Given the description of an element on the screen output the (x, y) to click on. 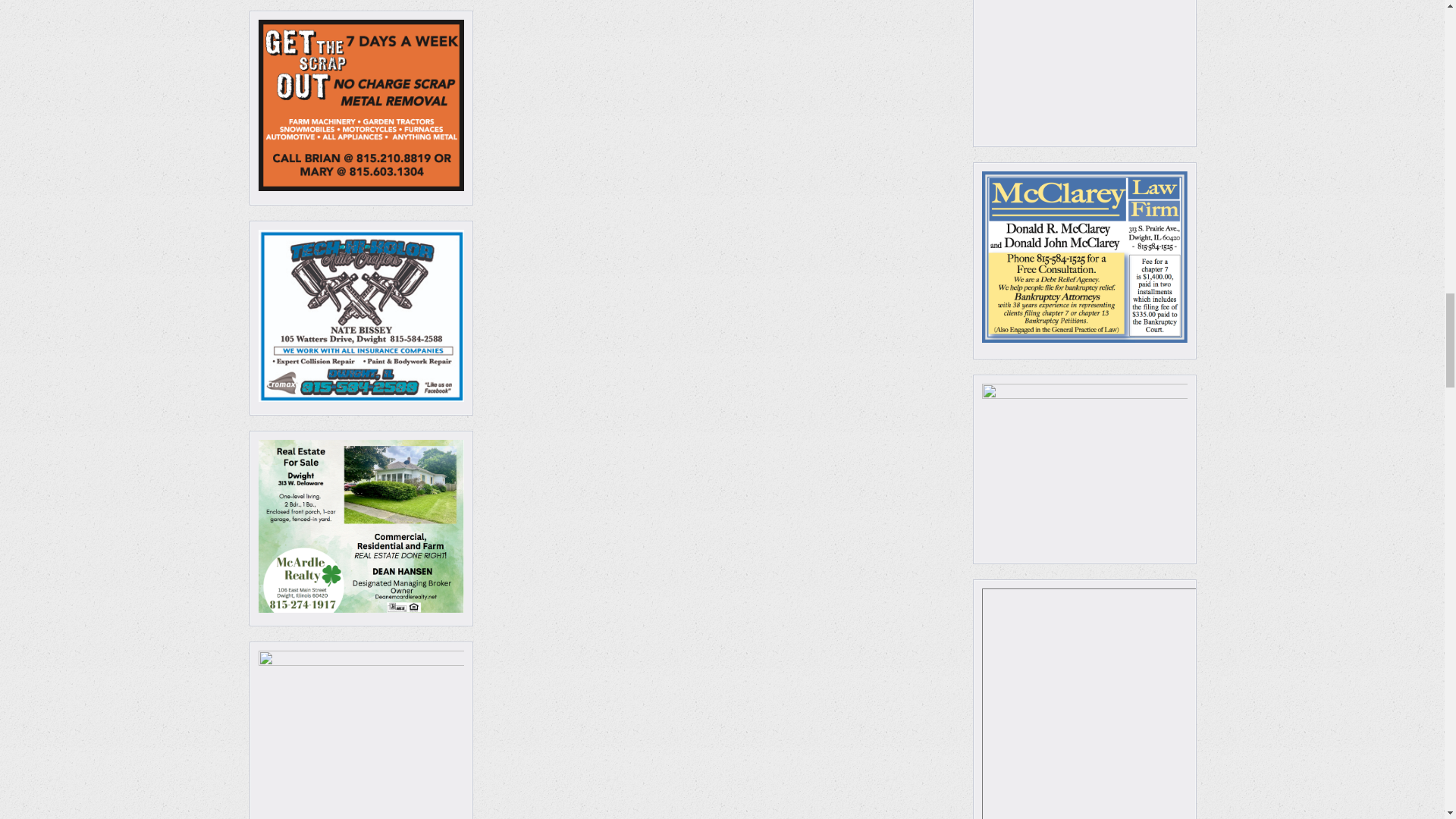
Mcardle (361, 525)
